Given the description of an element on the screen output the (x, y) to click on. 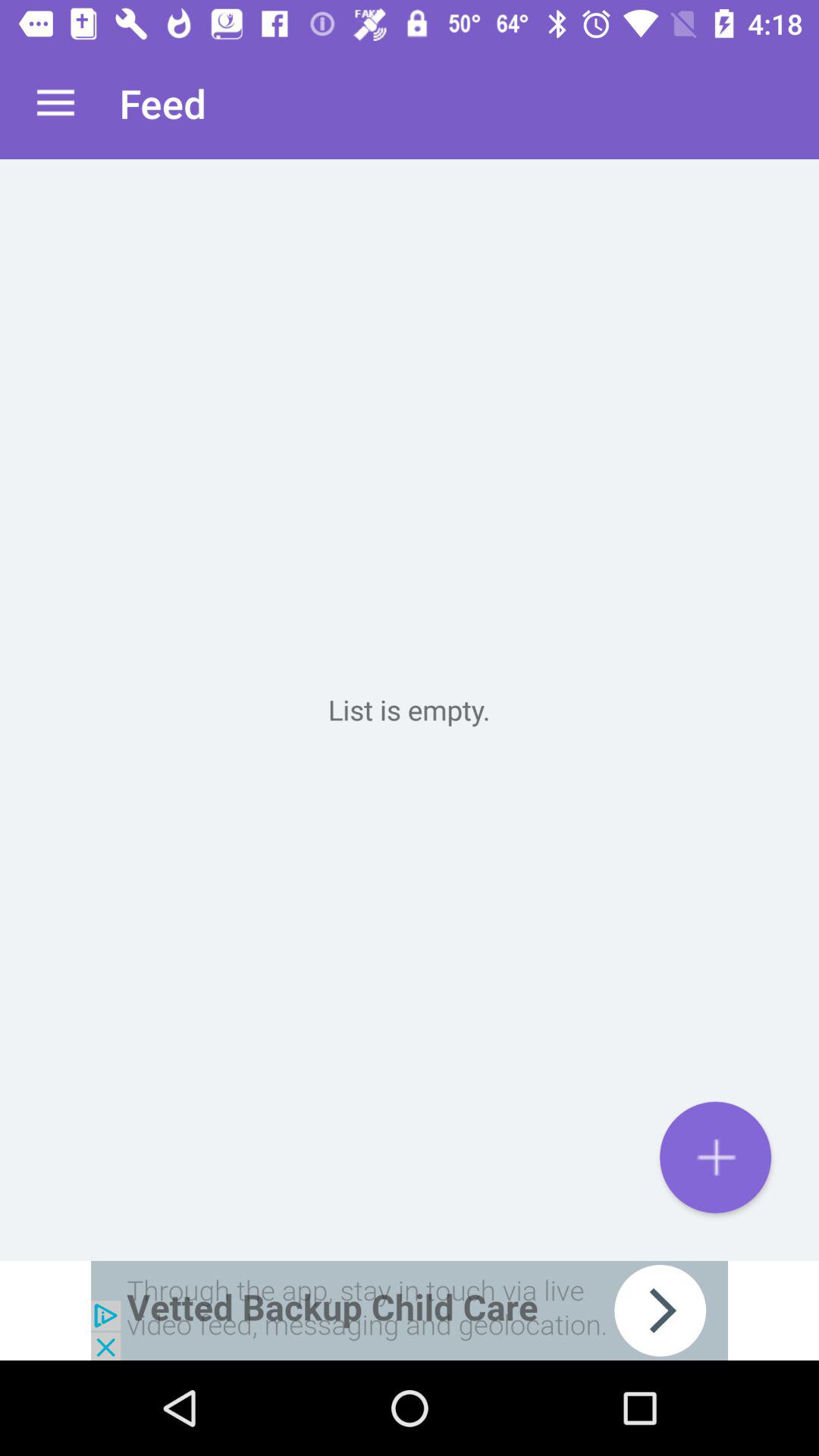
view advertisement (409, 1310)
